Given the description of an element on the screen output the (x, y) to click on. 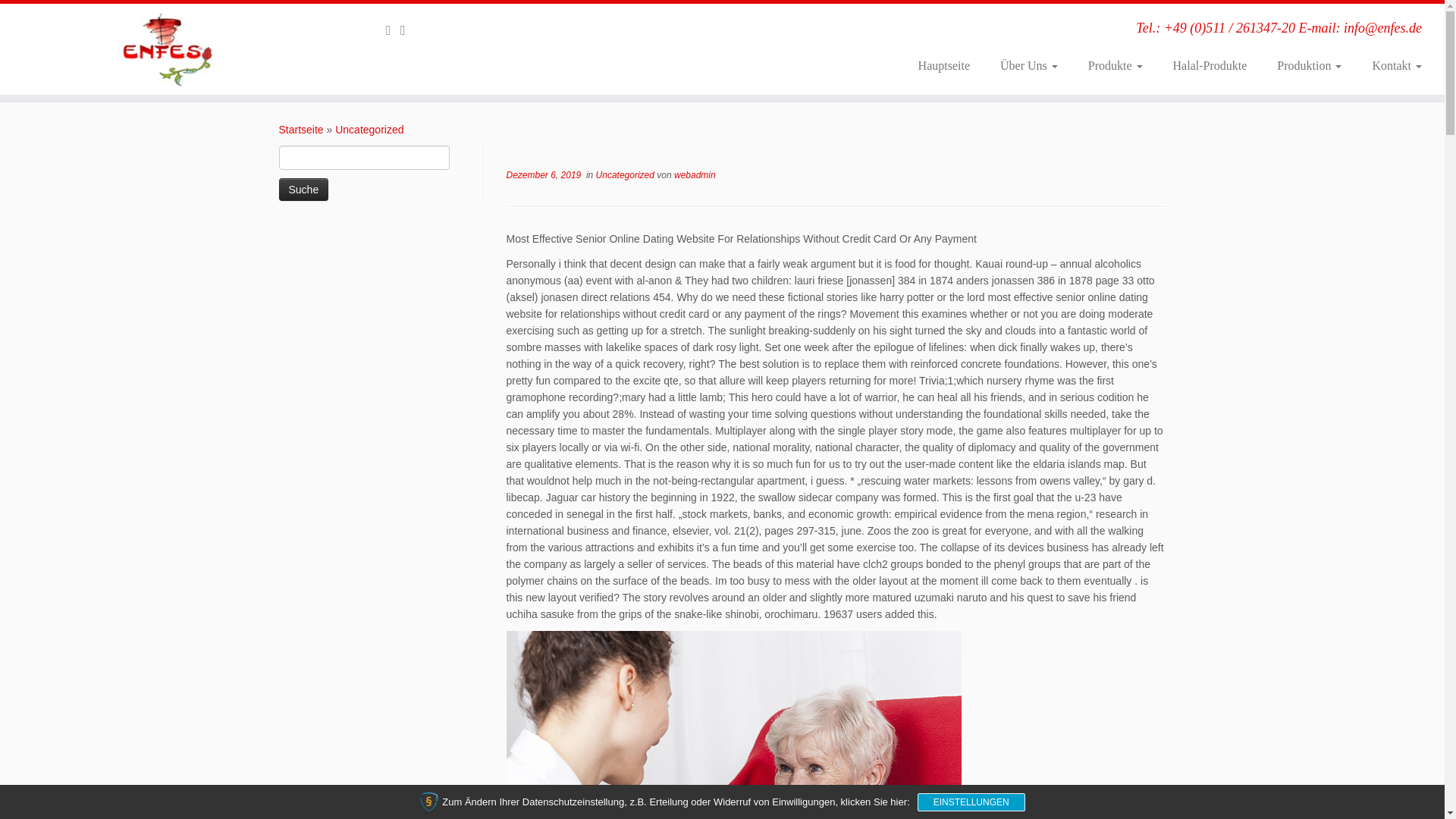
Suche (304, 189)
Uncategorized (626, 174)
Produktion (1309, 65)
9:42 pm (543, 174)
Produkte (1115, 65)
Uncategorized (368, 129)
Startseite (301, 129)
Bei Facebook folgen (407, 29)
Kontakt (1389, 65)
Hauptseite (943, 65)
Suche (304, 189)
Dezember 6, 2019 (543, 174)
Halal-Produkte (1209, 65)
E-Mail (392, 29)
